Given the description of an element on the screen output the (x, y) to click on. 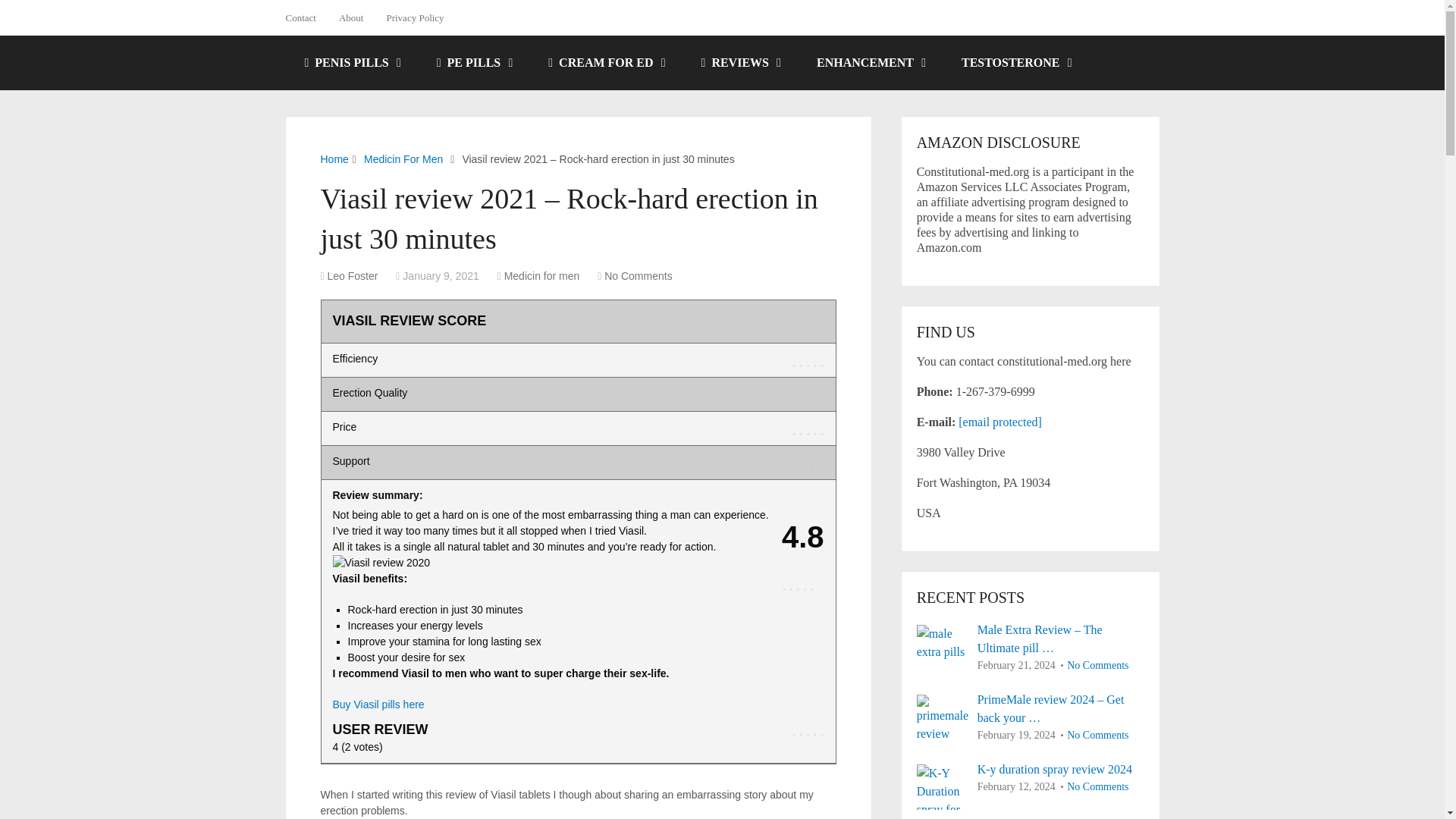
View all posts in Medicin for men (541, 275)
About (351, 17)
ENHANCEMENT (869, 63)
Posts by Leo Foster (352, 275)
PENIS PILLS (350, 63)
PE PILLS (473, 63)
Privacy Policy (414, 17)
CREAM FOR ED (605, 63)
Contact (305, 17)
REVIEWS (739, 63)
